Given the description of an element on the screen output the (x, y) to click on. 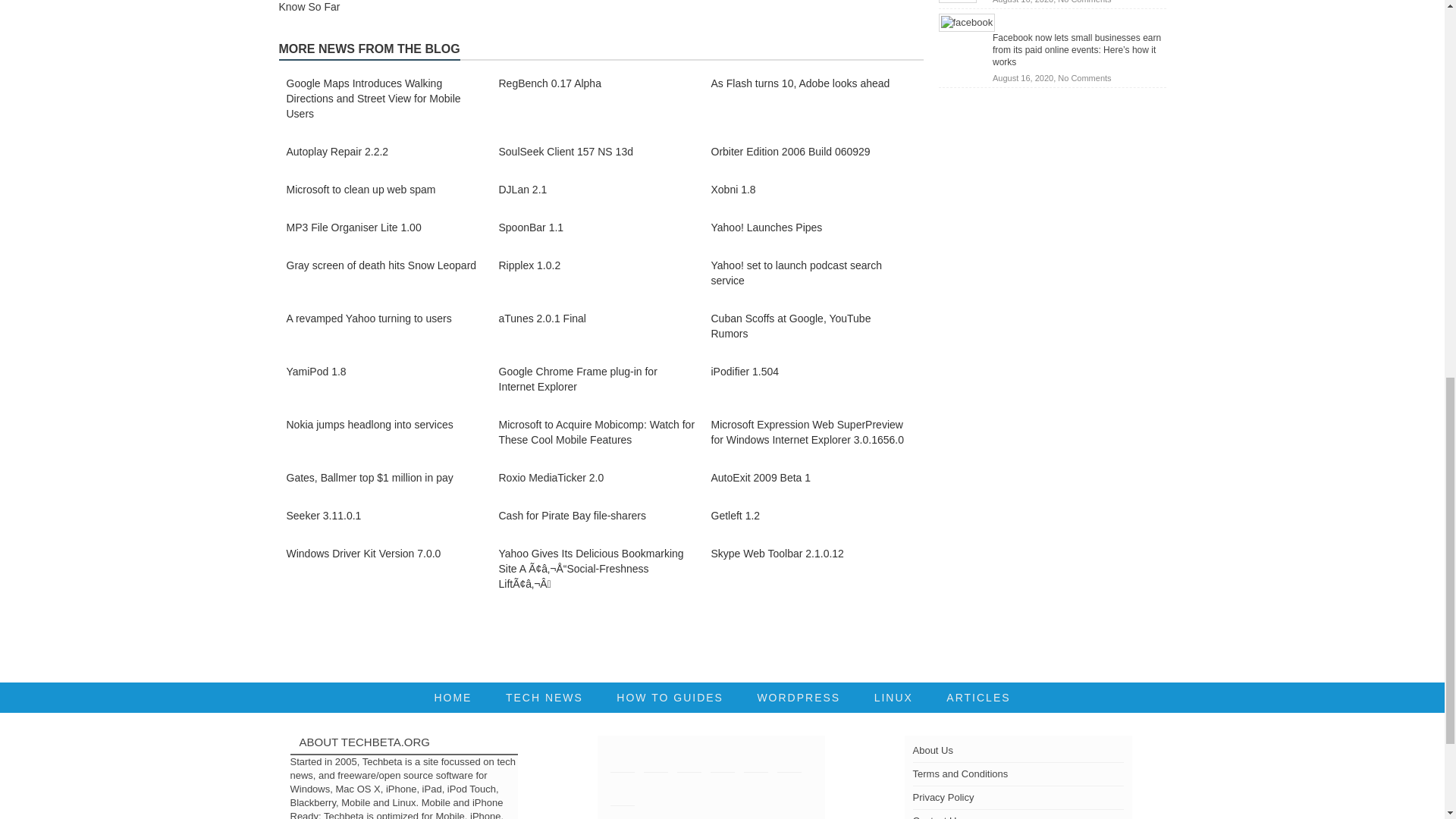
Google Plus (721, 760)
Pinterest (754, 760)
Twitter (621, 760)
LinkedIn (688, 760)
Facebook (654, 760)
